Given the description of an element on the screen output the (x, y) to click on. 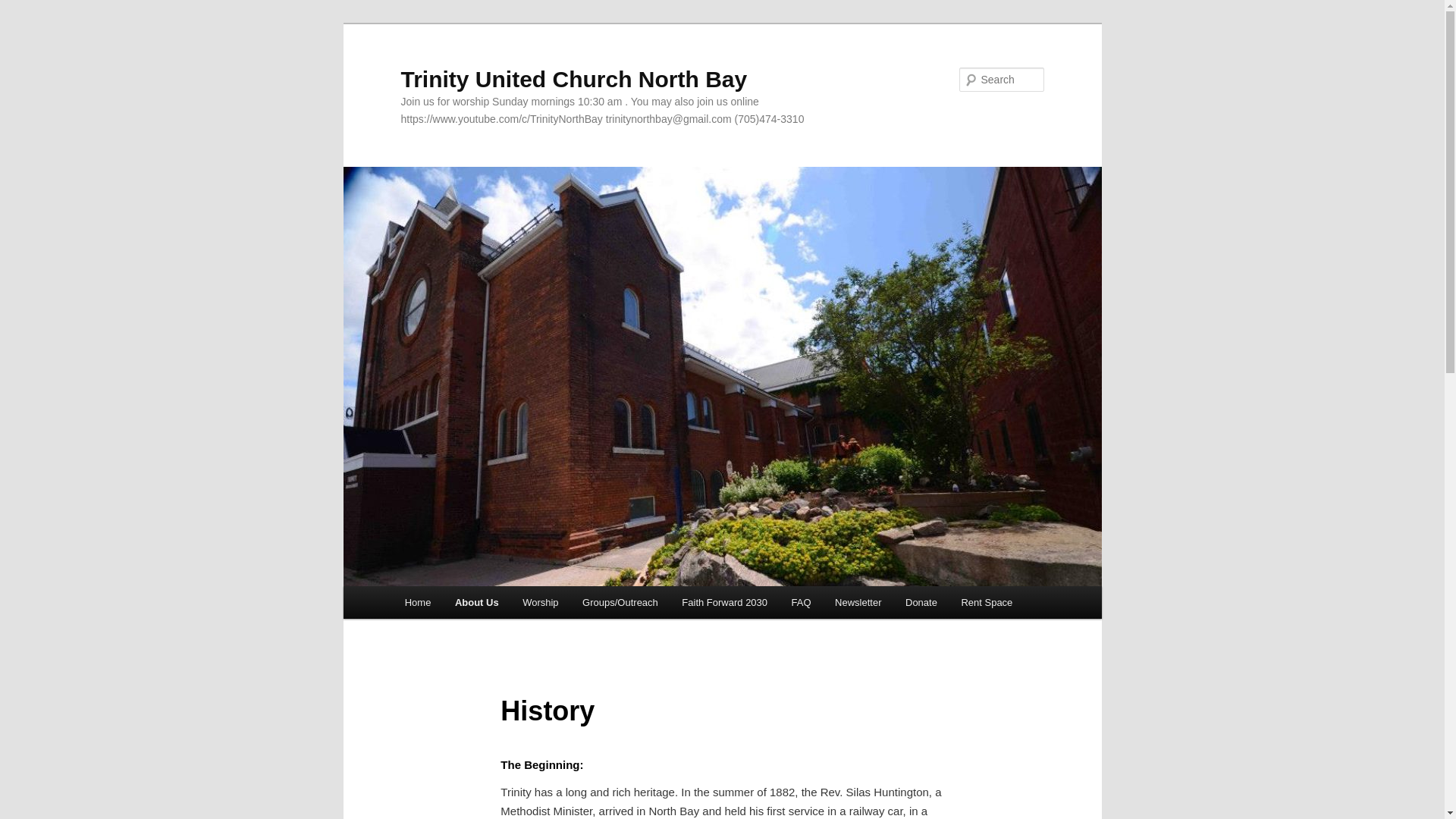
Home (417, 602)
Worship (540, 602)
Trinity United Church North Bay (573, 78)
Search (24, 8)
About Us (476, 602)
